Given the description of an element on the screen output the (x, y) to click on. 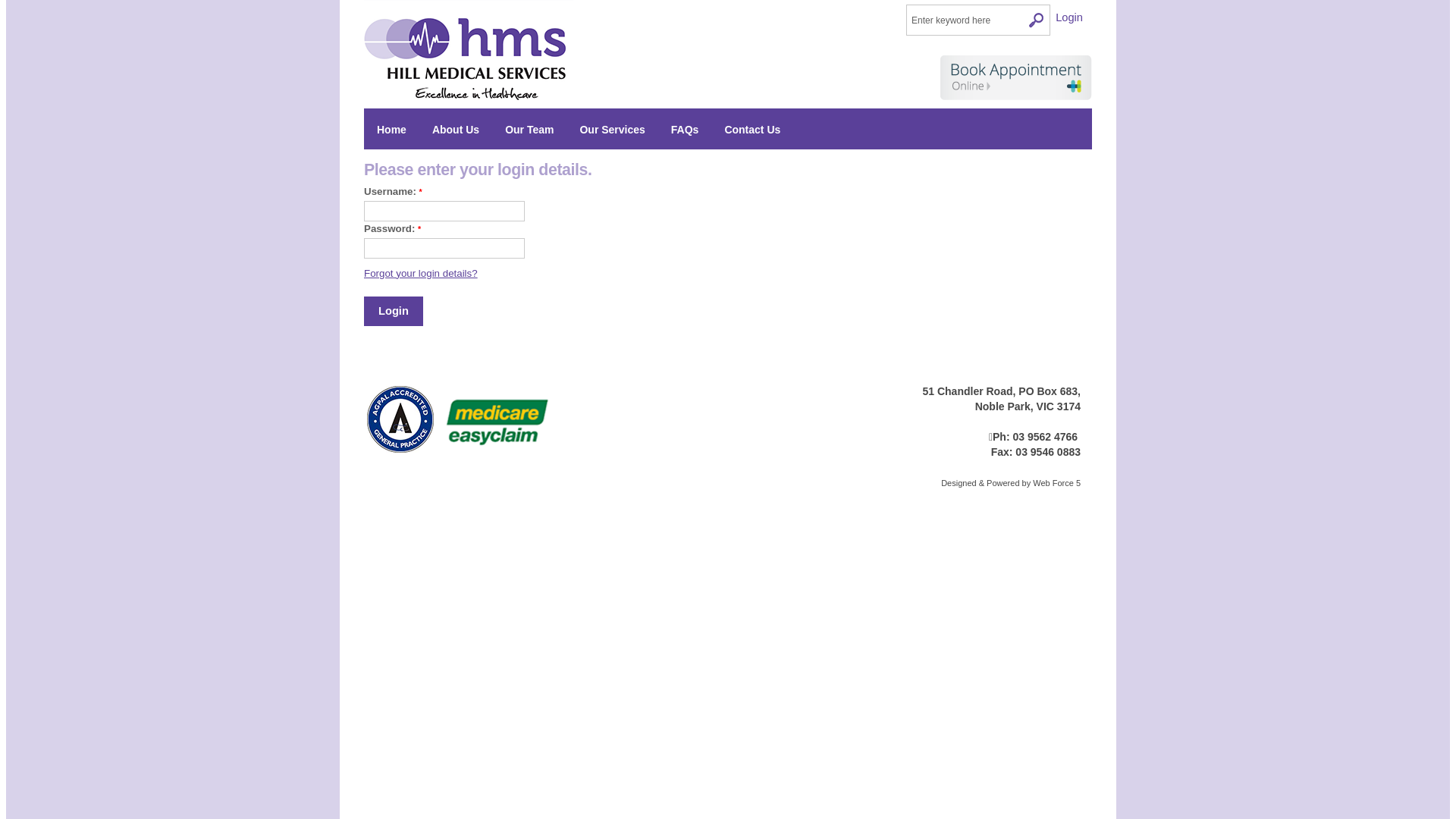
Login Element type: text (14, 7)
Contact Us Element type: text (752, 128)
Our Services Element type: text (611, 128)
Our Team Element type: text (529, 128)
Login Element type: text (393, 311)
APGAL Element type: hover (401, 422)
About Us Element type: text (455, 128)
MEdicare Element type: hover (497, 422)
FAQs Element type: text (685, 128)
Home Element type: text (391, 128)
Search Element type: hover (1037, 19)
Login Element type: text (1068, 17)
Forgot your login details? Element type: text (420, 273)
Designed & Powered by Web Force 5 Element type: text (1010, 482)
